Given the description of an element on the screen output the (x, y) to click on. 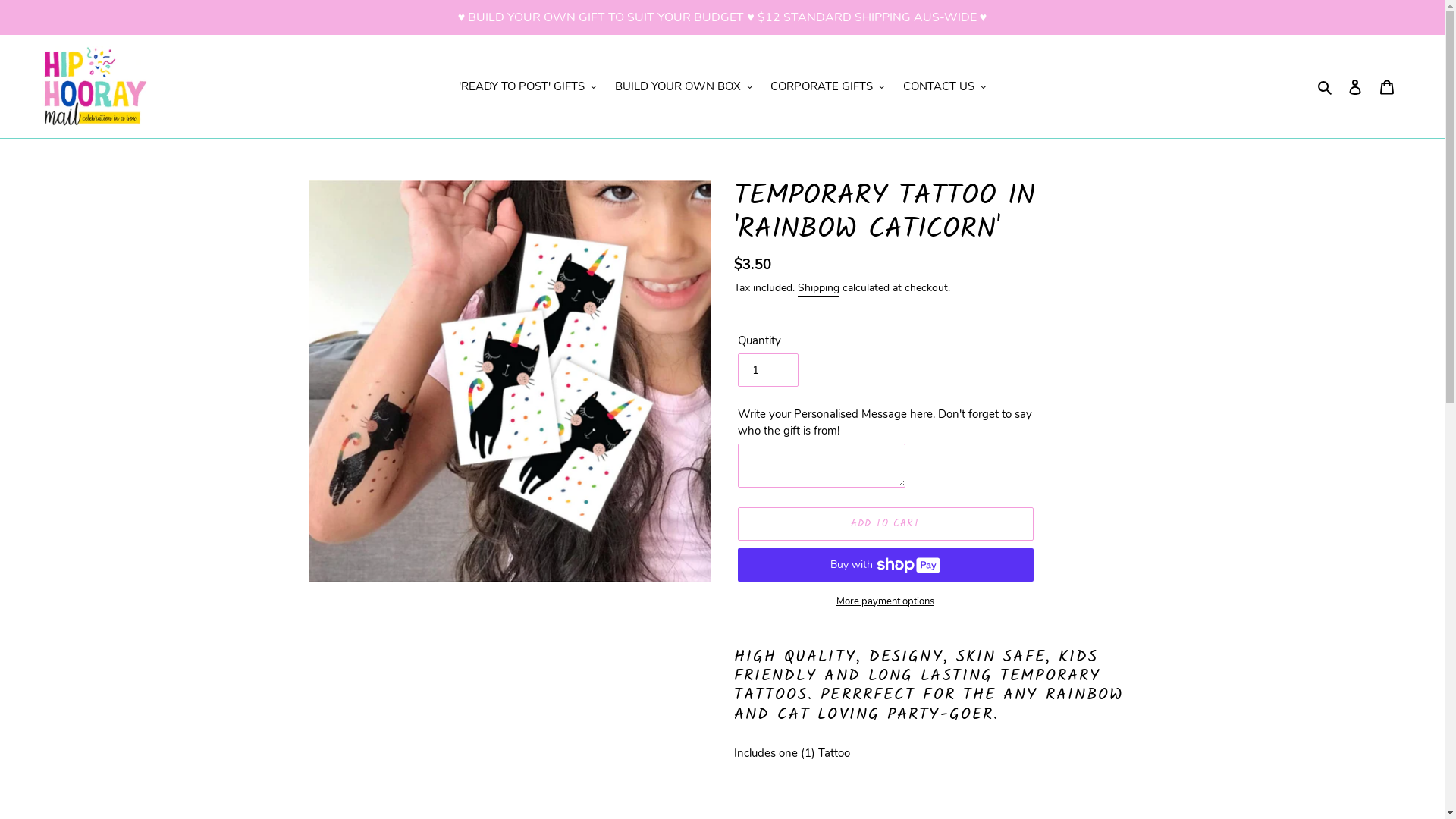
Log in Element type: text (1355, 86)
ADD TO CART Element type: text (884, 523)
Search Element type: text (1325, 86)
CORPORATE GIFTS Element type: text (827, 86)
Cart Element type: text (1386, 86)
Shipping Element type: text (818, 288)
BUILD YOUR OWN BOX Element type: text (682, 86)
CONTACT US Element type: text (943, 86)
'READY TO POST' GIFTS Element type: text (527, 86)
More payment options Element type: text (884, 601)
